Given the description of an element on the screen output the (x, y) to click on. 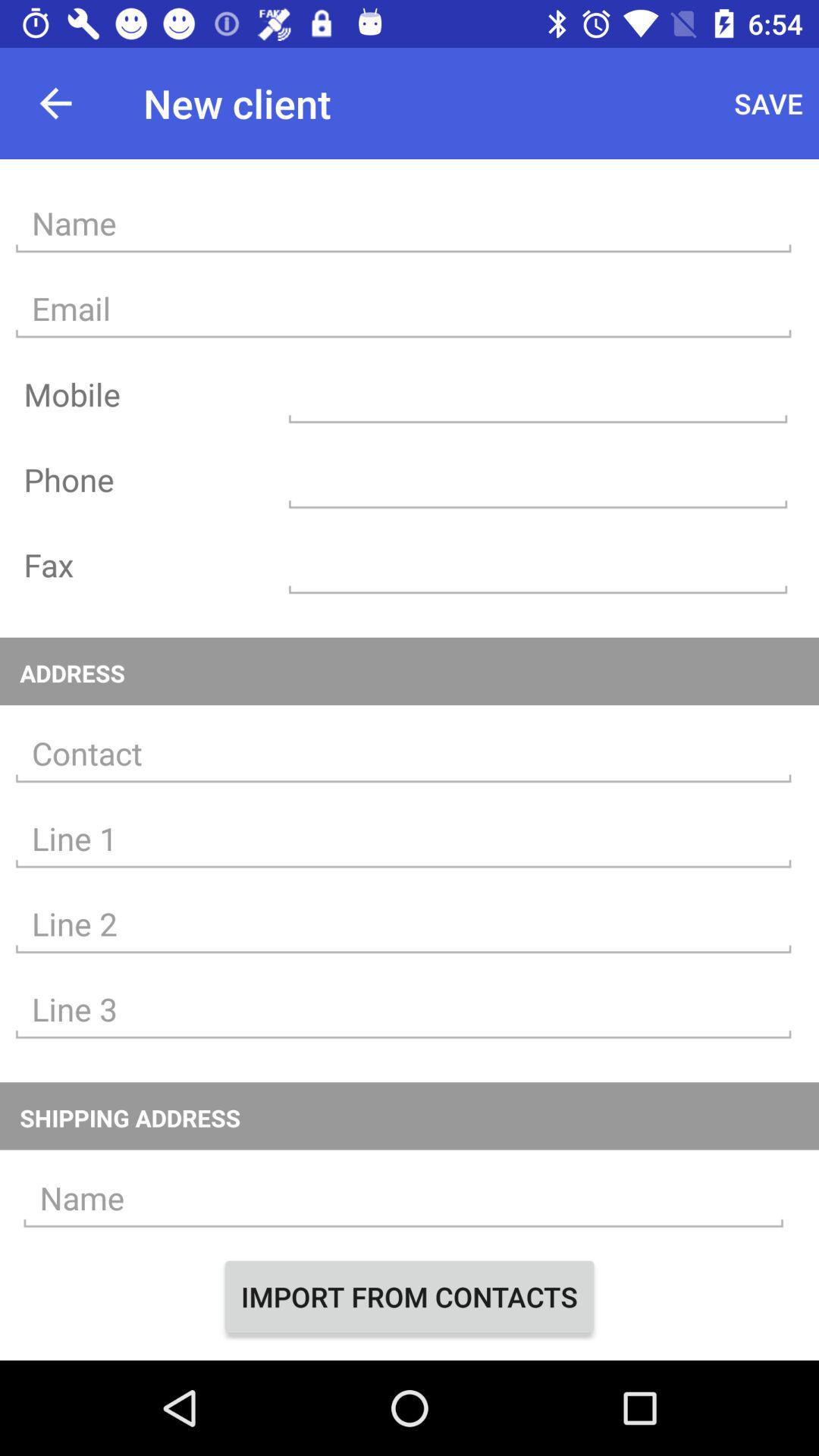
select the icon at the top right corner (768, 103)
